Given the description of an element on the screen output the (x, y) to click on. 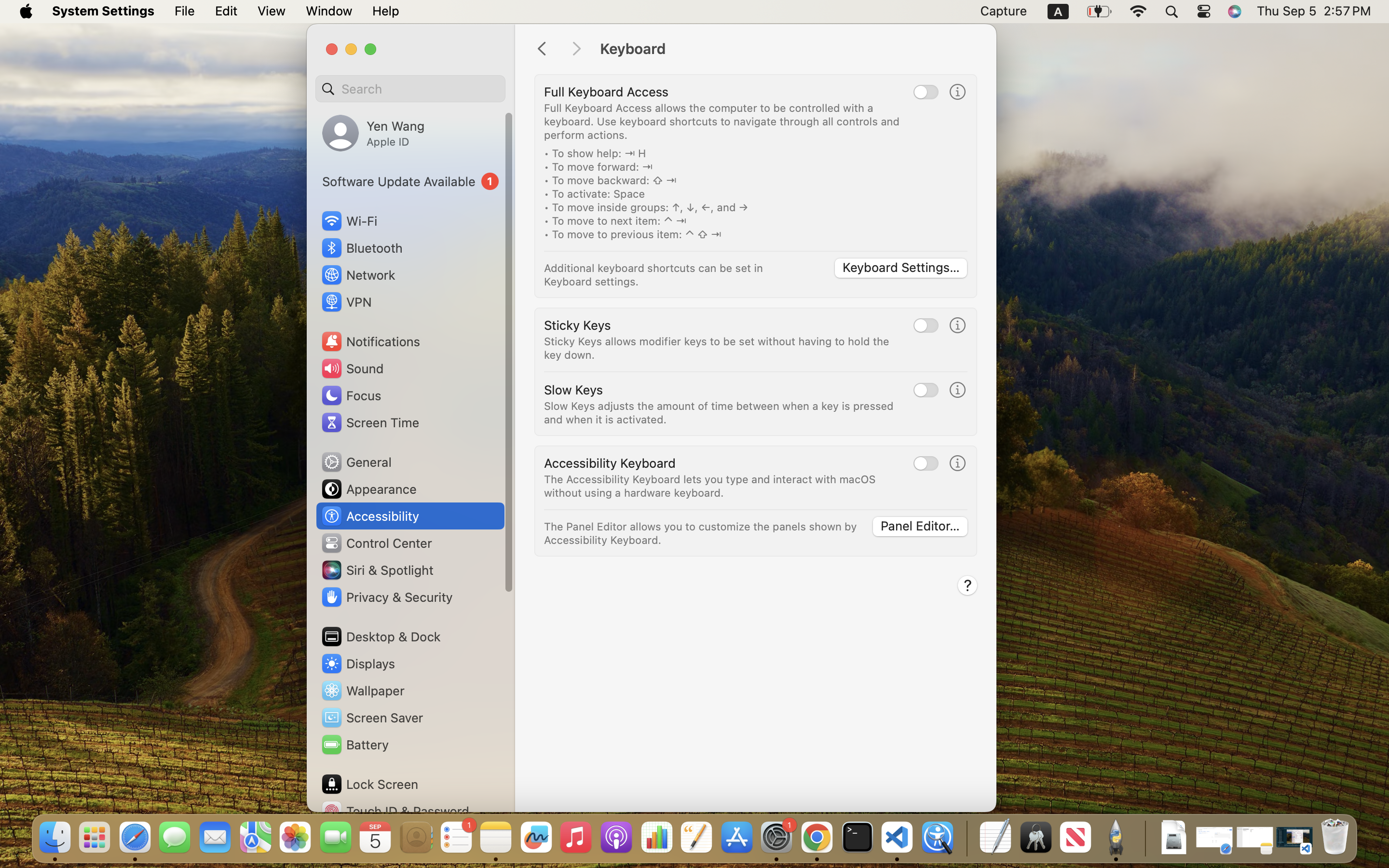
Lock Screen Element type: AXStaticText (369, 783)
Keyboard Element type: AXStaticText (788, 49)
Notifications Element type: AXStaticText (370, 340)
